Given the description of an element on the screen output the (x, y) to click on. 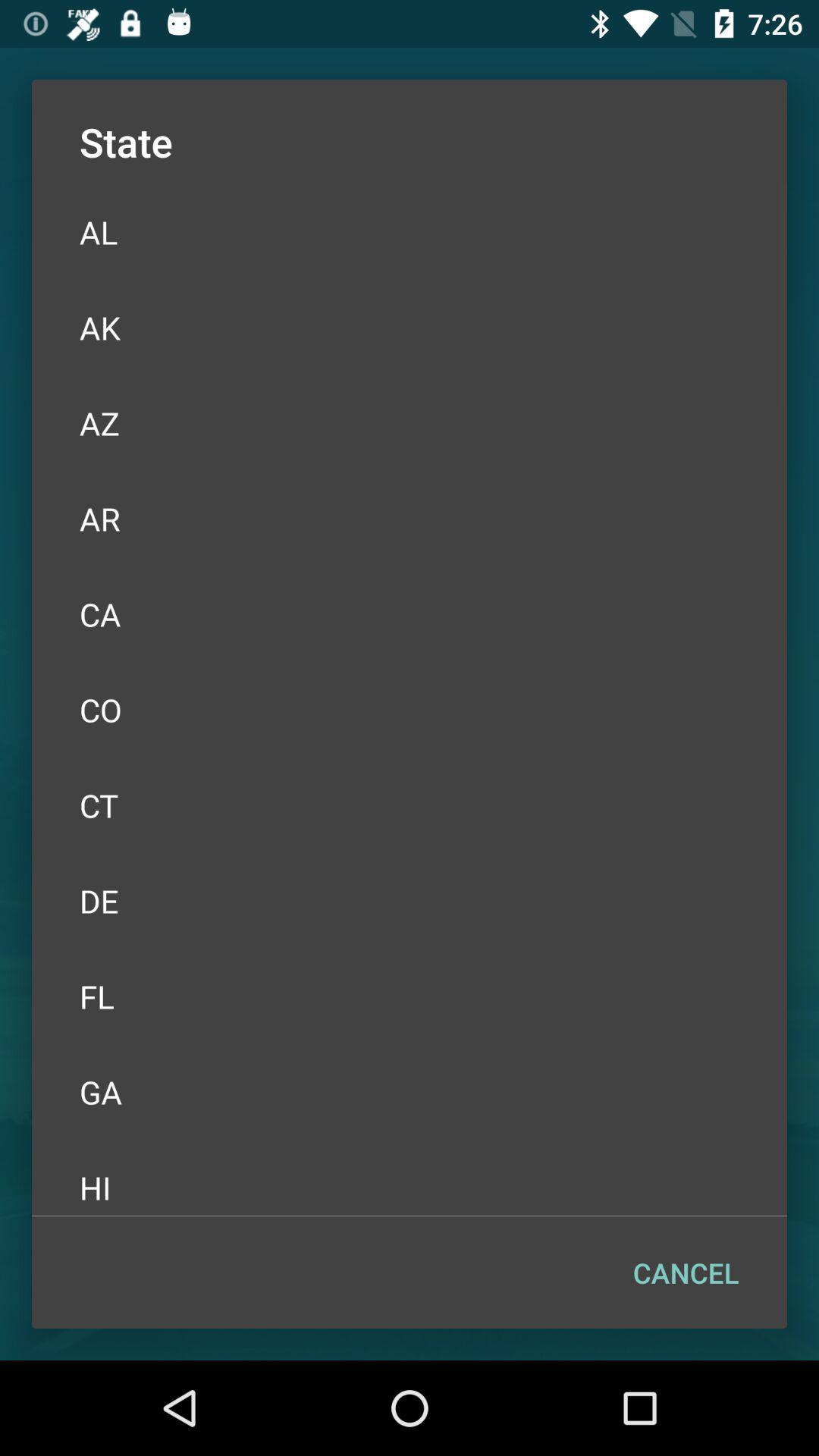
click icon above hi (409, 1091)
